Given the description of an element on the screen output the (x, y) to click on. 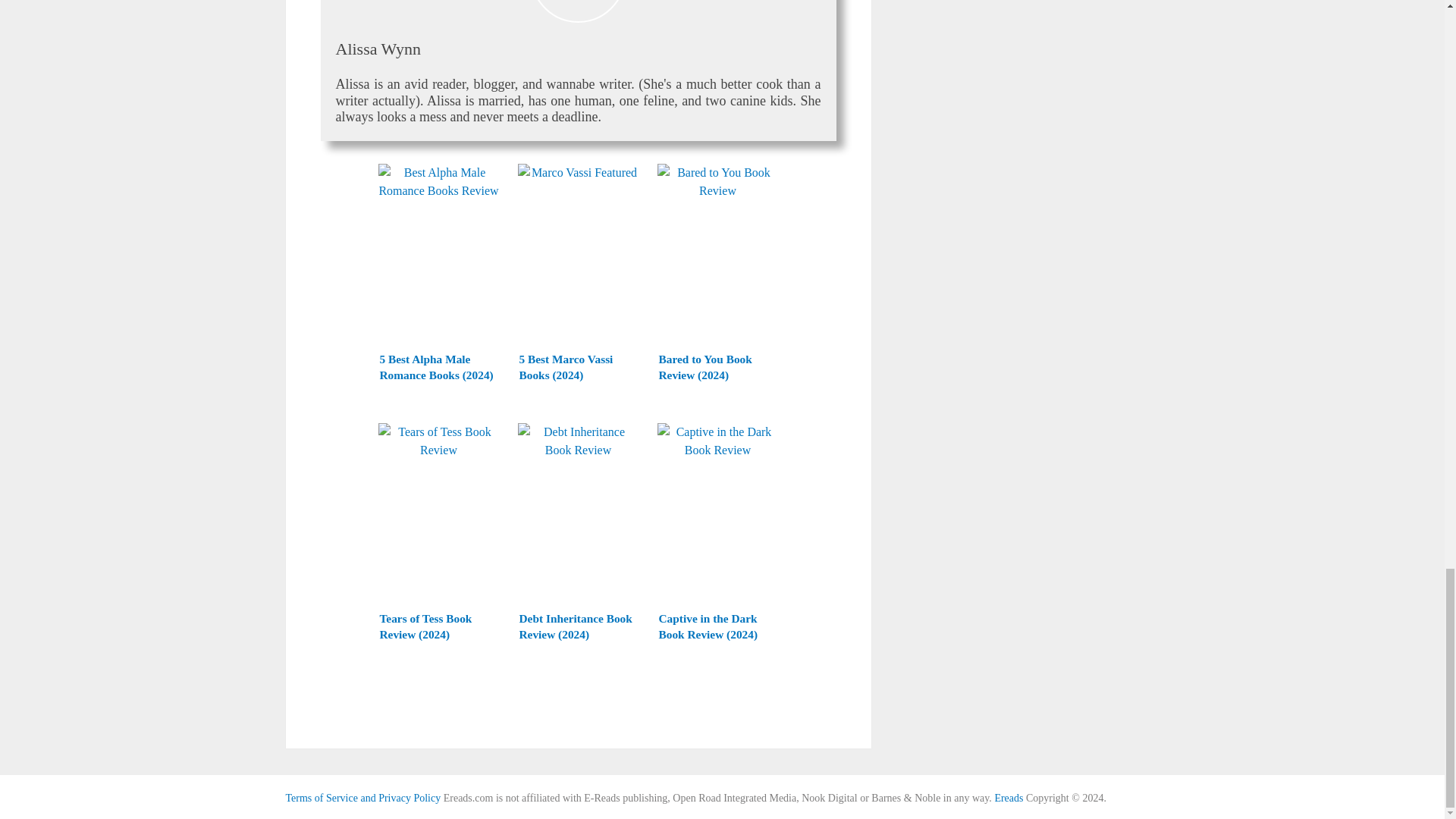
Terms of Service and Privacy Policy (363, 797)
Ereads (1008, 797)
